Given the description of an element on the screen output the (x, y) to click on. 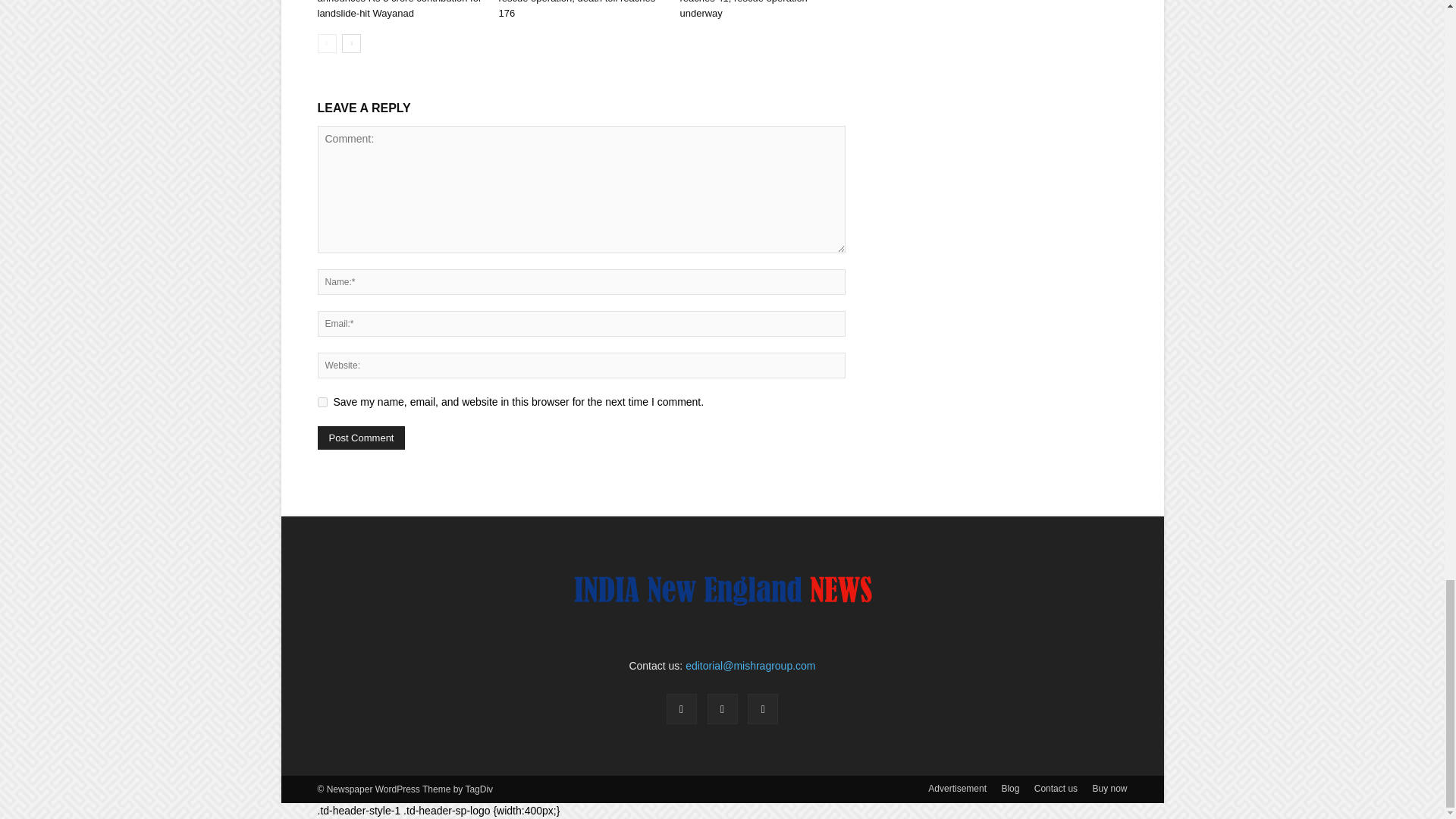
Post Comment (360, 437)
yes (321, 402)
